Given the description of an element on the screen output the (x, y) to click on. 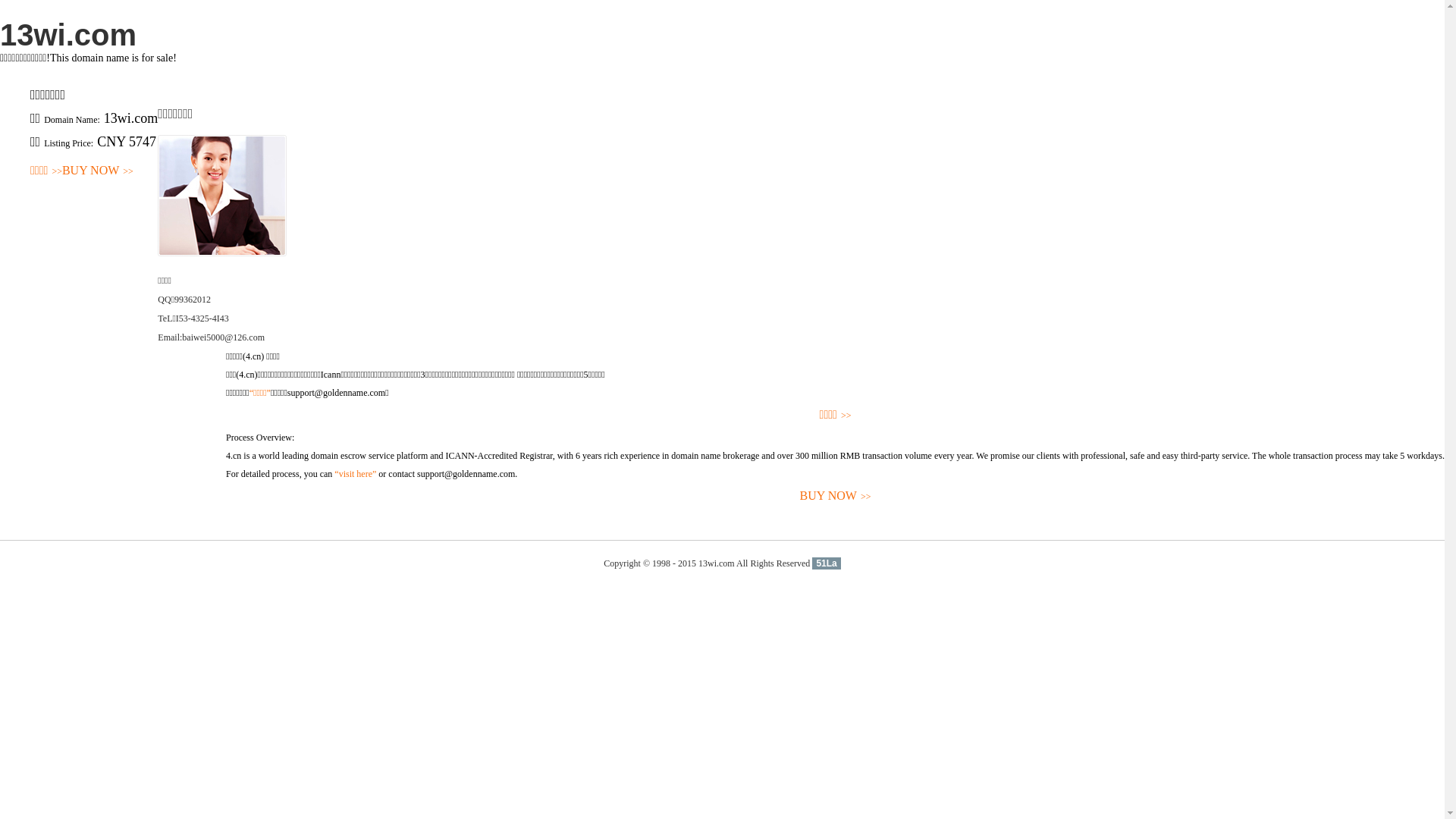
BUY NOW>> Element type: text (834, 496)
BUY NOW>> Element type: text (97, 170)
51La Element type: text (826, 563)
